Given the description of an element on the screen output the (x, y) to click on. 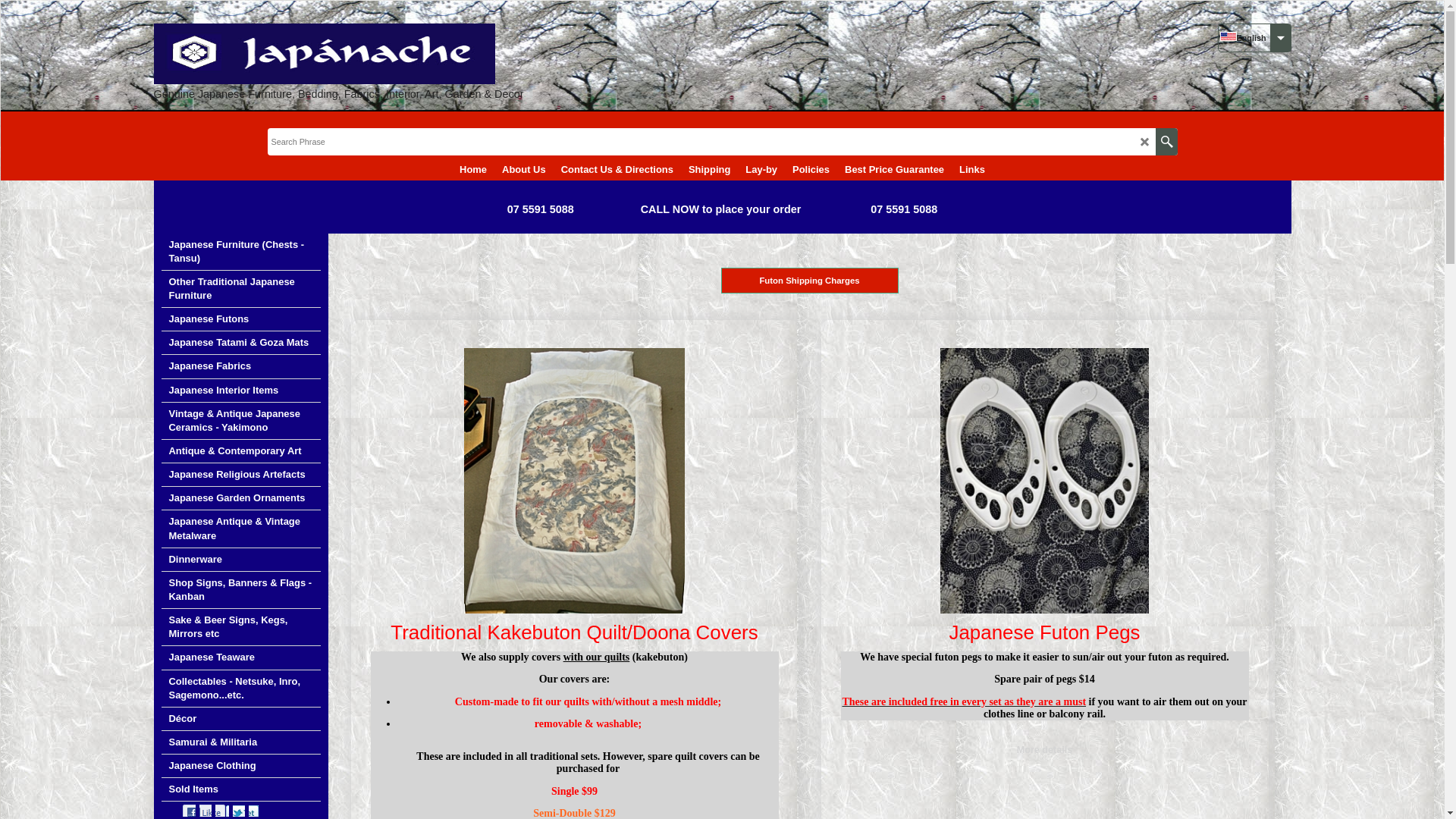
English Element type: hover (1228, 35)
Japanese Garden Ornaments Element type: text (240, 498)
Share this on MySpace Element type: hover (222, 810)
Find Element type: hover (1166, 141)
Other Traditional Japanese Furniture Element type: text (240, 288)
japanese futon pegs_20220331101229 Element type: hover (1044, 480)
Sold Items Element type: text (240, 789)
Traditional Kakebuton Quilt/Doona Covers Element type: text (574, 632)
Japanese Interior Items Element type: text (240, 390)
Links Element type: text (971, 168)
Japanese Fabrics Element type: text (240, 366)
Dinnerware Element type: text (240, 559)
Japanese Antique & Vintage Metalware Element type: text (240, 528)
Shop Signs, Banners & Flags - Kanban Element type: text (240, 589)
Share this on Reddit Element type: hover (270, 810)
Collectables - Netsuke, Inro, Sagemono...etc. Element type: text (240, 688)
Home Element type: text (472, 168)
Tweet this Element type: hover (204, 810)
Google Buzz It Element type: hover (238, 810)
Vintage & Antique Japanese Ceramics - Yakimono Element type: text (240, 420)
Policies Element type: text (810, 168)
Japanese Religious Artefacts Element type: text (240, 474)
Email this Element type: hover (290, 810)
Share this on Stumble Upon Element type: hover (254, 810)
Best Price Guarantee Element type: text (894, 168)
Samurai & Militaria Element type: text (240, 742)
More details Element type: text (1044, 749)
Contact Us & Directions Element type: text (616, 168)
Japanese Futons Element type: text (240, 319)
Futon Shipping Charges Element type: text (808, 280)
LD_CANCEL Element type: hover (1144, 142)
Lay-by Element type: text (760, 168)
kakebuton cover Element type: hover (574, 480)
Antique & Contemporary Art Element type: text (240, 451)
Japanese Clothing Element type: text (240, 766)
Shipping Element type: text (708, 168)
Add to Facebook Element type: hover (188, 810)
Japanese Tatami & Goza Mats Element type: text (240, 342)
Japanese Teaware Element type: text (240, 657)
Japanese Furniture (Chests - Tansu) Element type: text (240, 251)
Sake & Beer Signs, Kegs, Mirrors etc Element type: text (240, 627)
About Us Element type: text (523, 168)
Japanese Futon Pegs Element type: text (1044, 632)
